Given the description of an element on the screen output the (x, y) to click on. 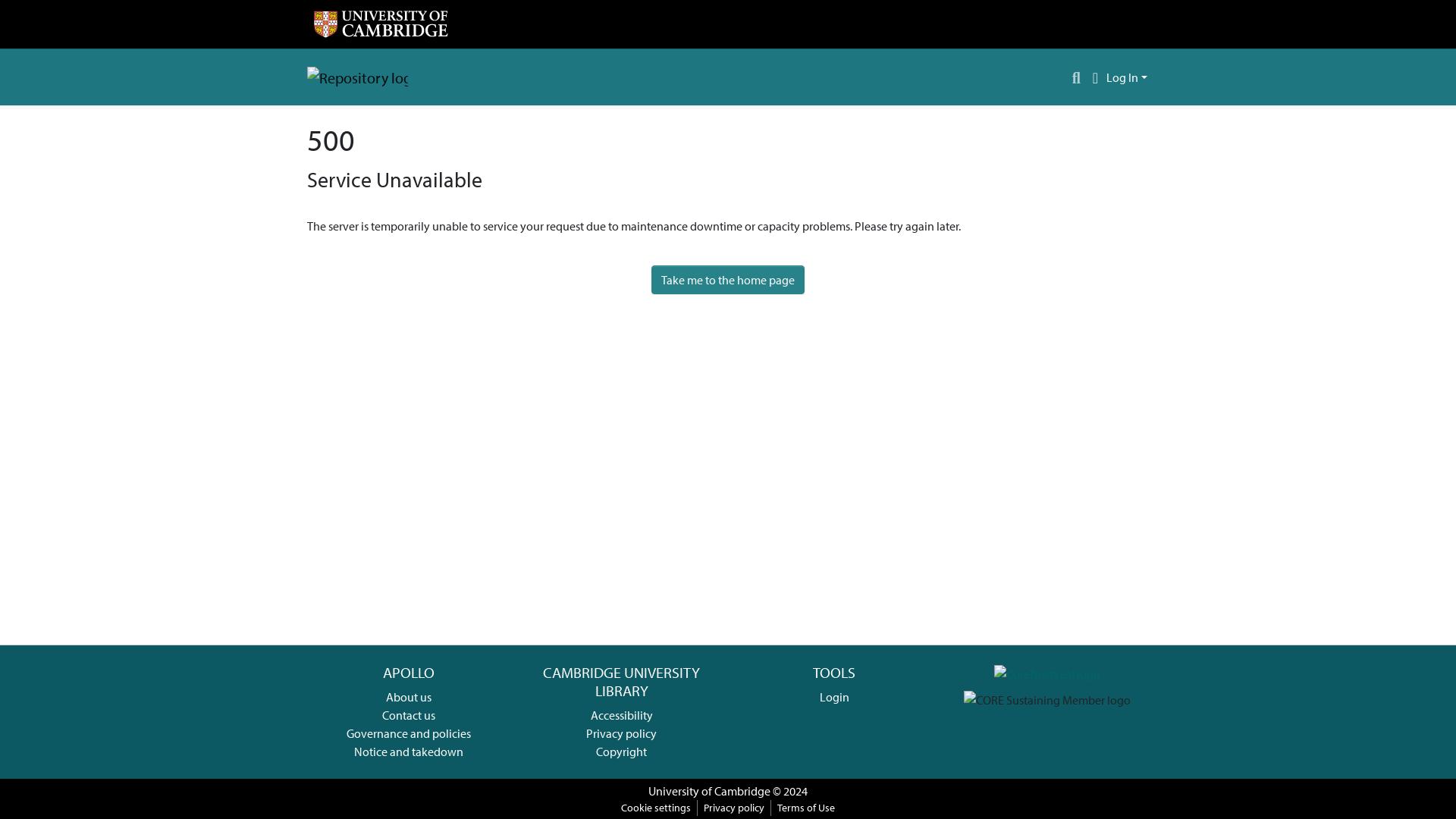
Privacy policy (621, 733)
Log In (1126, 77)
About us (407, 696)
Accessibility (621, 714)
Contact us (408, 714)
Login (833, 696)
Search (1076, 76)
Apollo CTS full application (1047, 672)
Privacy policy (733, 807)
Notice and takedown (408, 751)
